Given the description of an element on the screen output the (x, y) to click on. 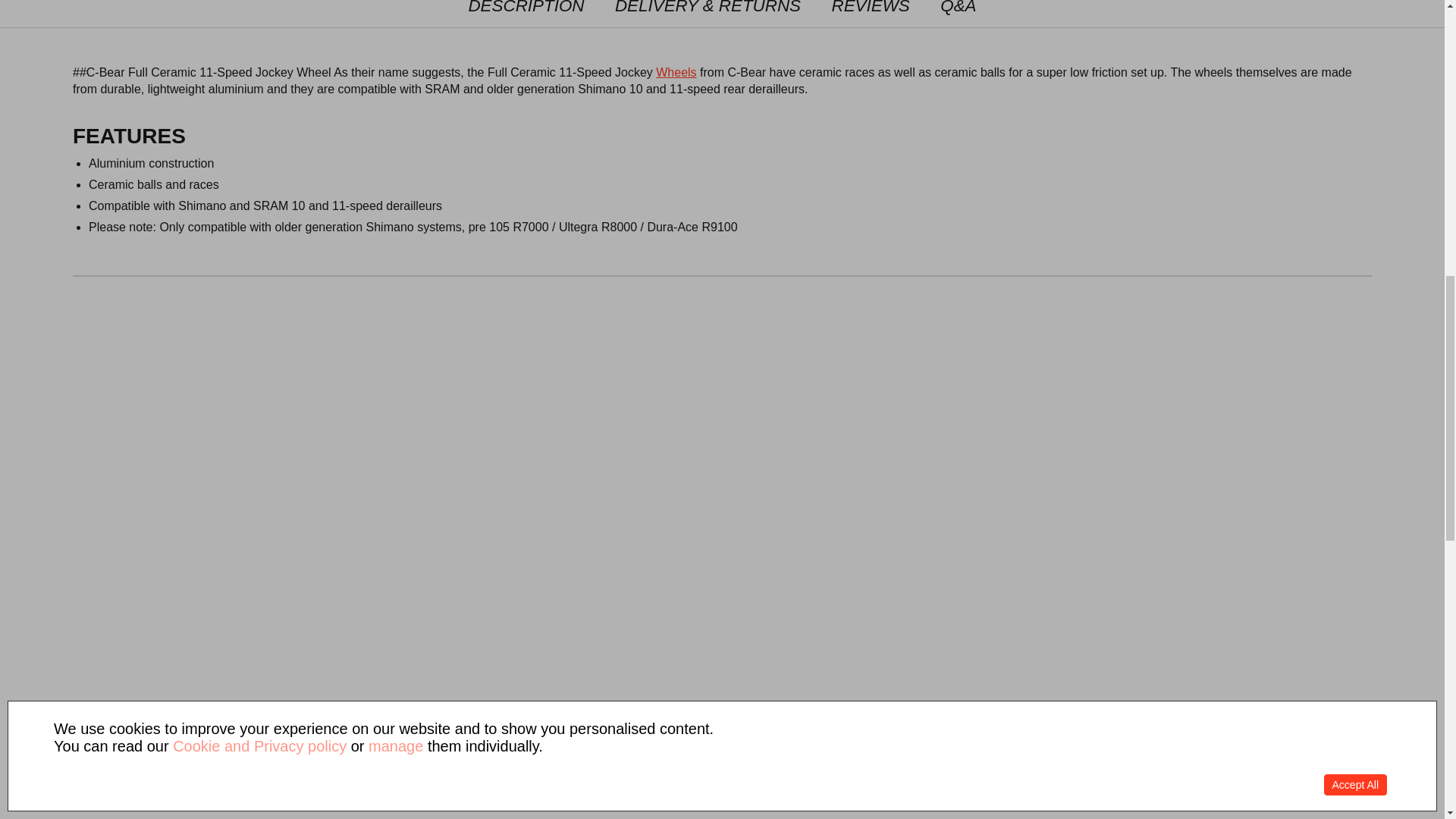
DESCRIPTION (526, 13)
REVIEWS (871, 13)
